Given the description of an element on the screen output the (x, y) to click on. 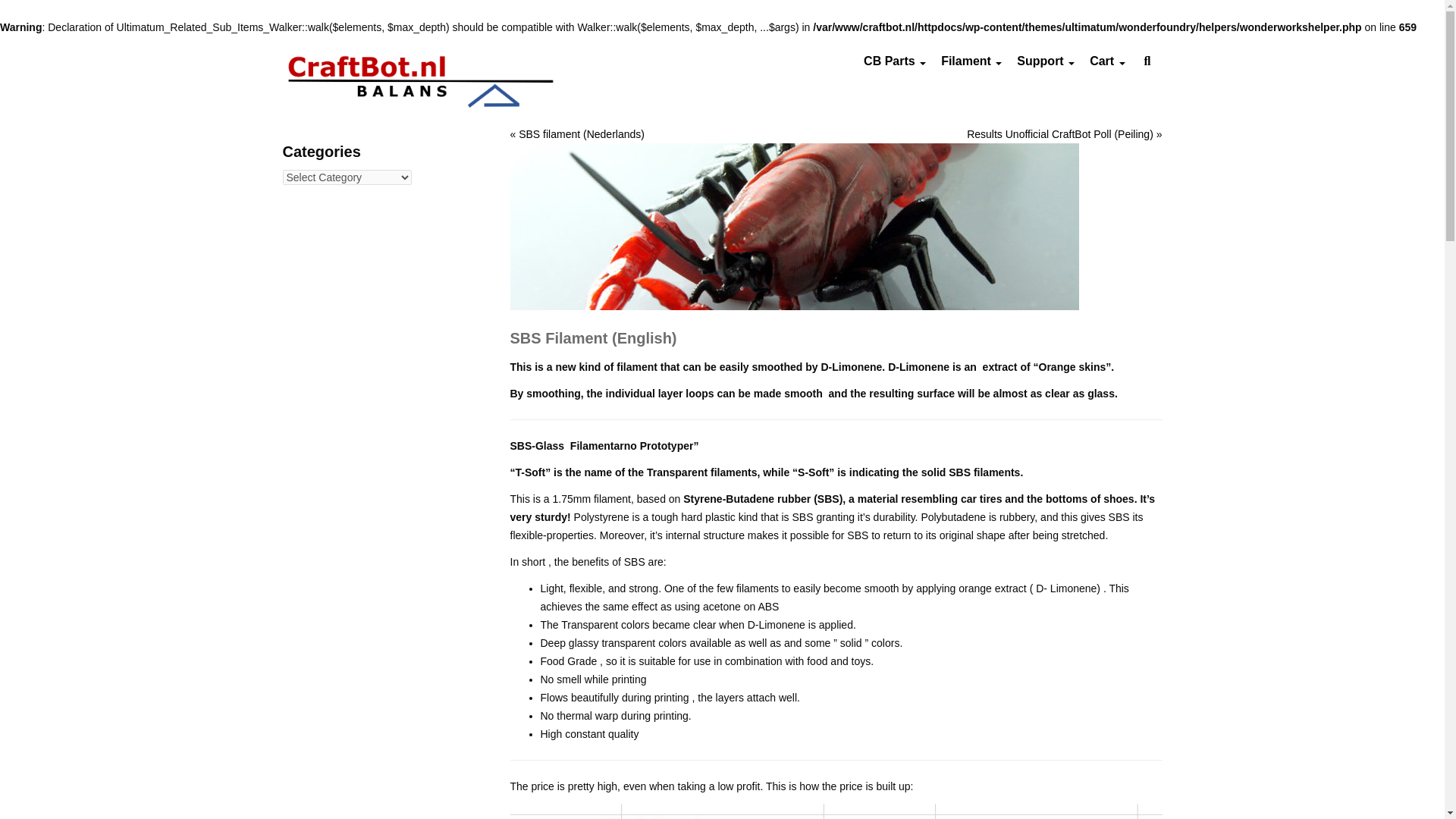
Filament (971, 60)
Cart (1106, 60)
CB Parts (894, 60)
Support (1045, 60)
